Given the description of an element on the screen output the (x, y) to click on. 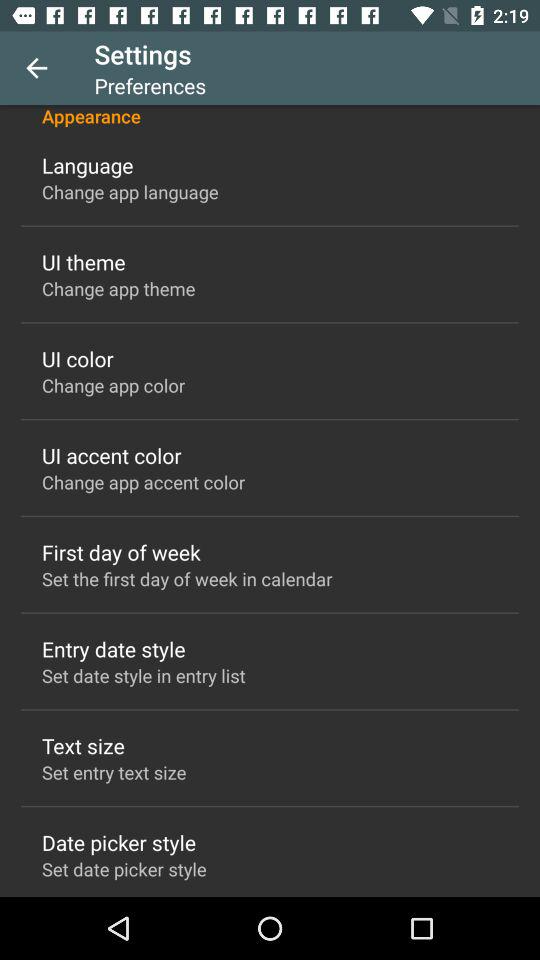
choose the icon below the change app language (83, 261)
